Given the description of an element on the screen output the (x, y) to click on. 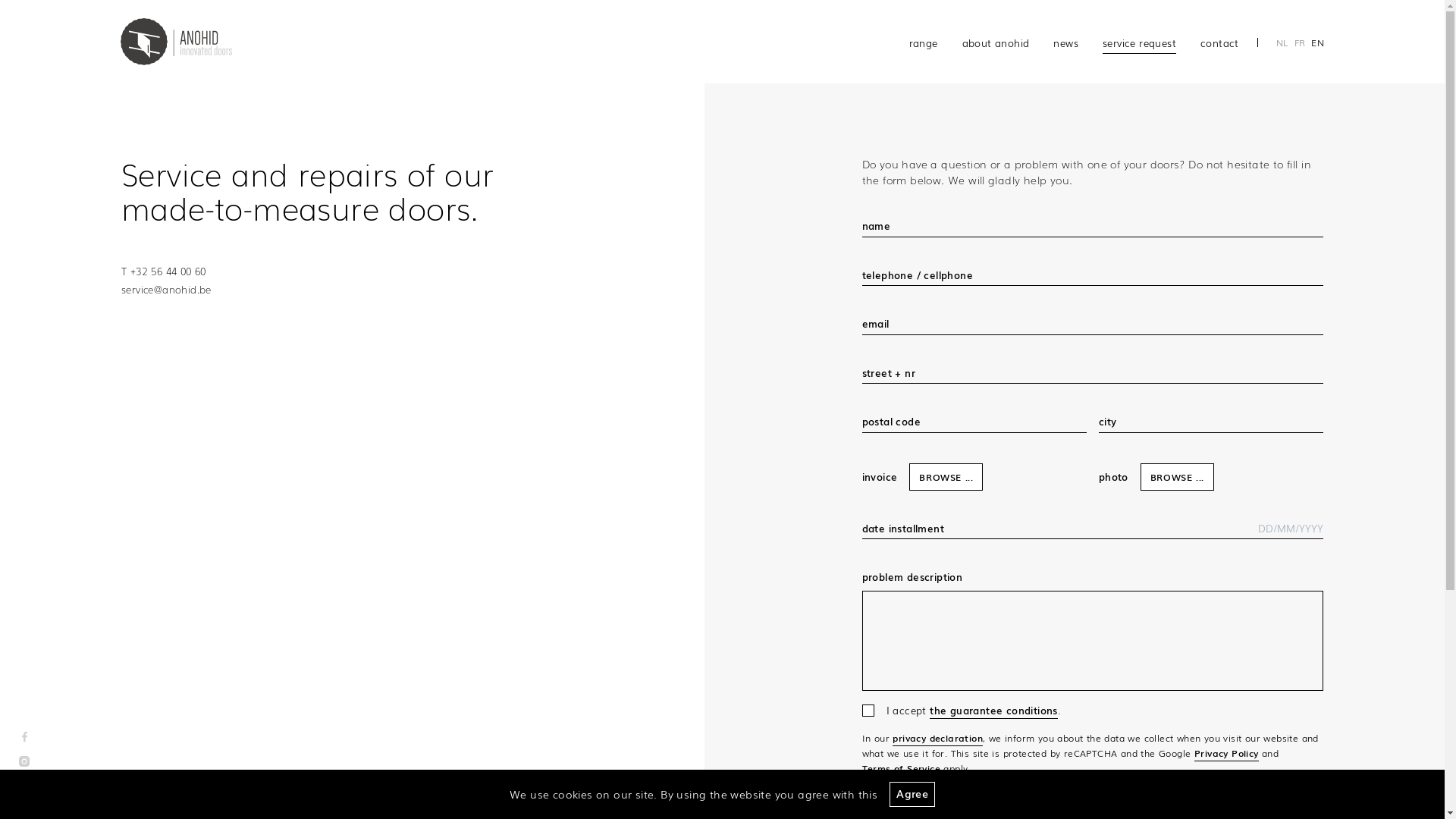
EN Element type: text (1317, 42)
about anohid Element type: text (995, 41)
NL Element type: text (1282, 42)
FR Element type: text (1299, 42)
send Element type: text (873, 801)
news Element type: text (1065, 41)
Agree Element type: text (912, 793)
Privacy Policy Element type: text (1226, 753)
service request Element type: text (1139, 41)
contact Element type: text (1213, 41)
the guarantee conditions Element type: text (993, 710)
range Element type: text (929, 41)
service@anohid.be Element type: text (166, 288)
Terms of Service Element type: text (900, 768)
T +32 56 44 00 60 Element type: text (163, 269)
privacy declaration Element type: text (937, 738)
